Given the description of an element on the screen output the (x, y) to click on. 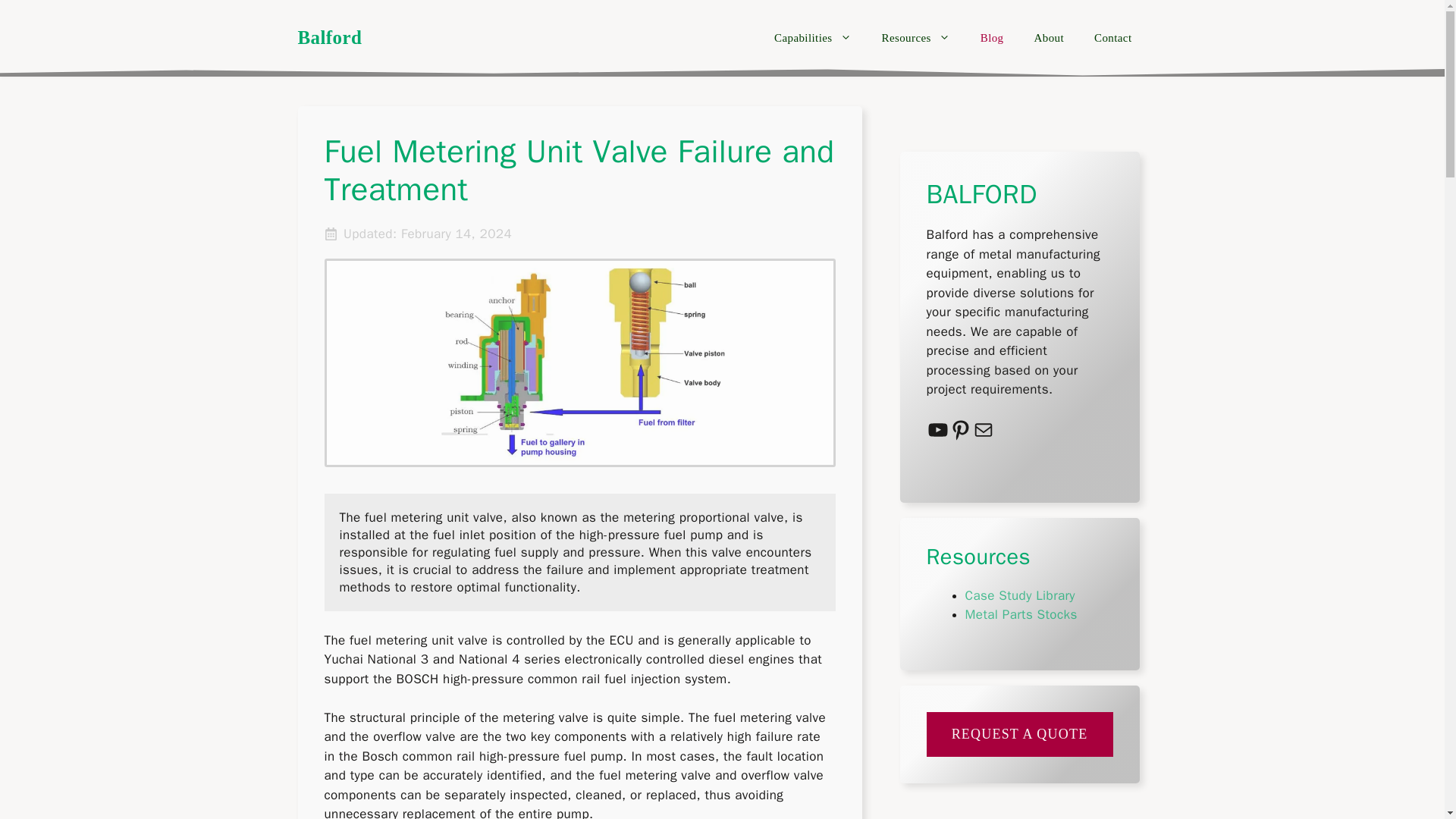
Balford YouTube (937, 429)
About (1049, 37)
Balford Mail (983, 429)
Capabilities (812, 37)
Case Study Library (1018, 595)
Contact (1112, 37)
Blog (992, 37)
Balford Pinterest (960, 429)
Metal Parts Stocks (1020, 614)
REQUEST A QUOTE (1019, 733)
